Given the description of an element on the screen output the (x, y) to click on. 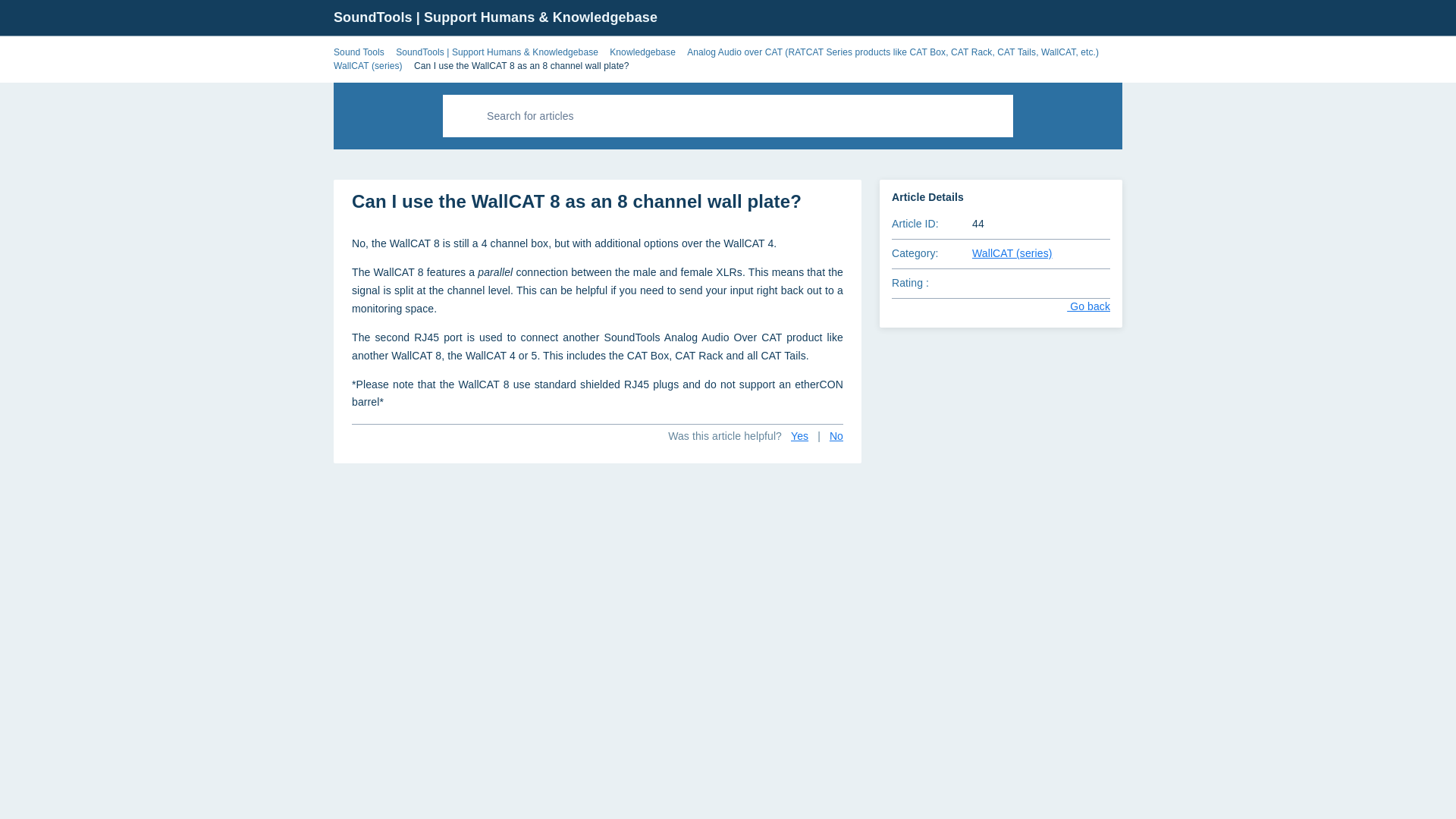
Knowledgebase (642, 51)
Sound Tools (358, 51)
Go back (1076, 306)
Yes (799, 436)
